Given the description of an element on the screen output the (x, y) to click on. 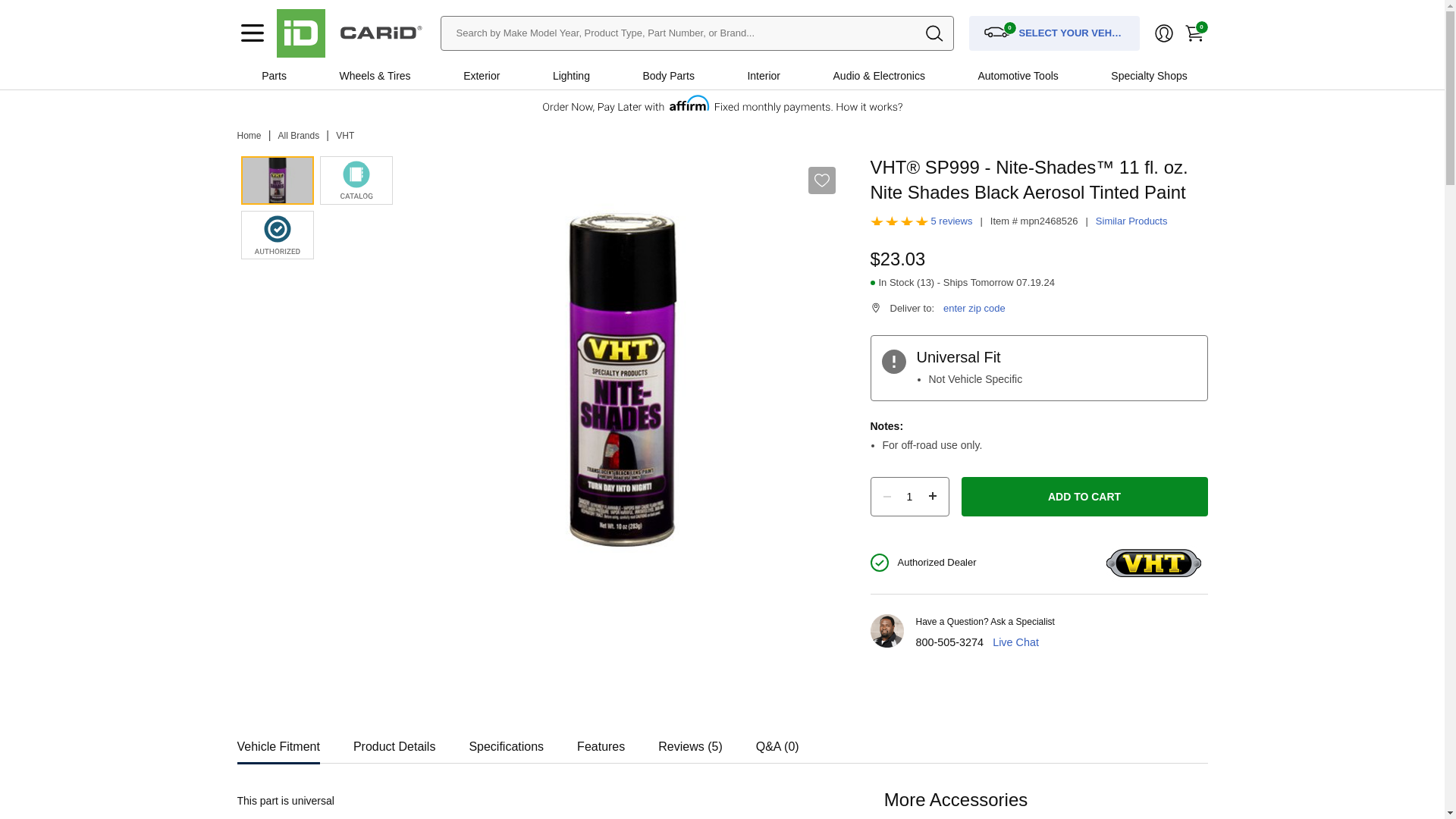
Product Details (394, 741)
Exterior (480, 75)
VHT Authorized Dealer (277, 234)
0 (1192, 33)
Vehicle Fitment (276, 741)
Specifications (505, 741)
5 reviews (951, 221)
Home (247, 135)
800-505-3274 (949, 642)
All Brands (299, 135)
Parts (273, 75)
Tires (398, 75)
Vehicle Fitment (276, 741)
VHT (344, 135)
CAR ID (300, 33)
